Given the description of an element on the screen output the (x, y) to click on. 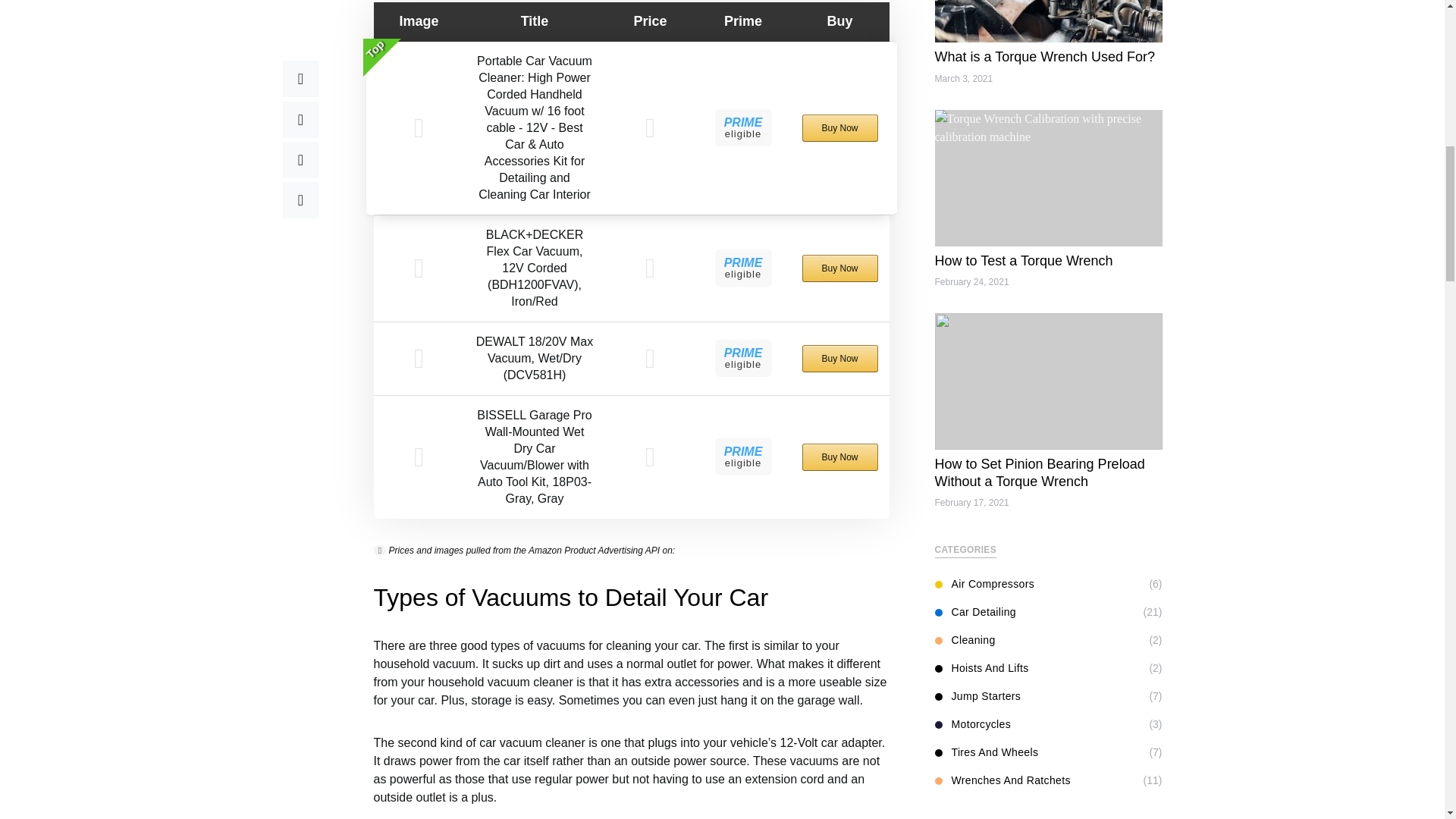
Buy Now (839, 456)
How to Test a Torque Wrench (1023, 246)
Buy Now (839, 358)
How to Set Pinion Bearing Preload Without a Torque Wrench (1039, 459)
Buy Now (839, 267)
What is a Torque Wrench Used For? (1044, 42)
Buy Now (839, 127)
